Given the description of an element on the screen output the (x, y) to click on. 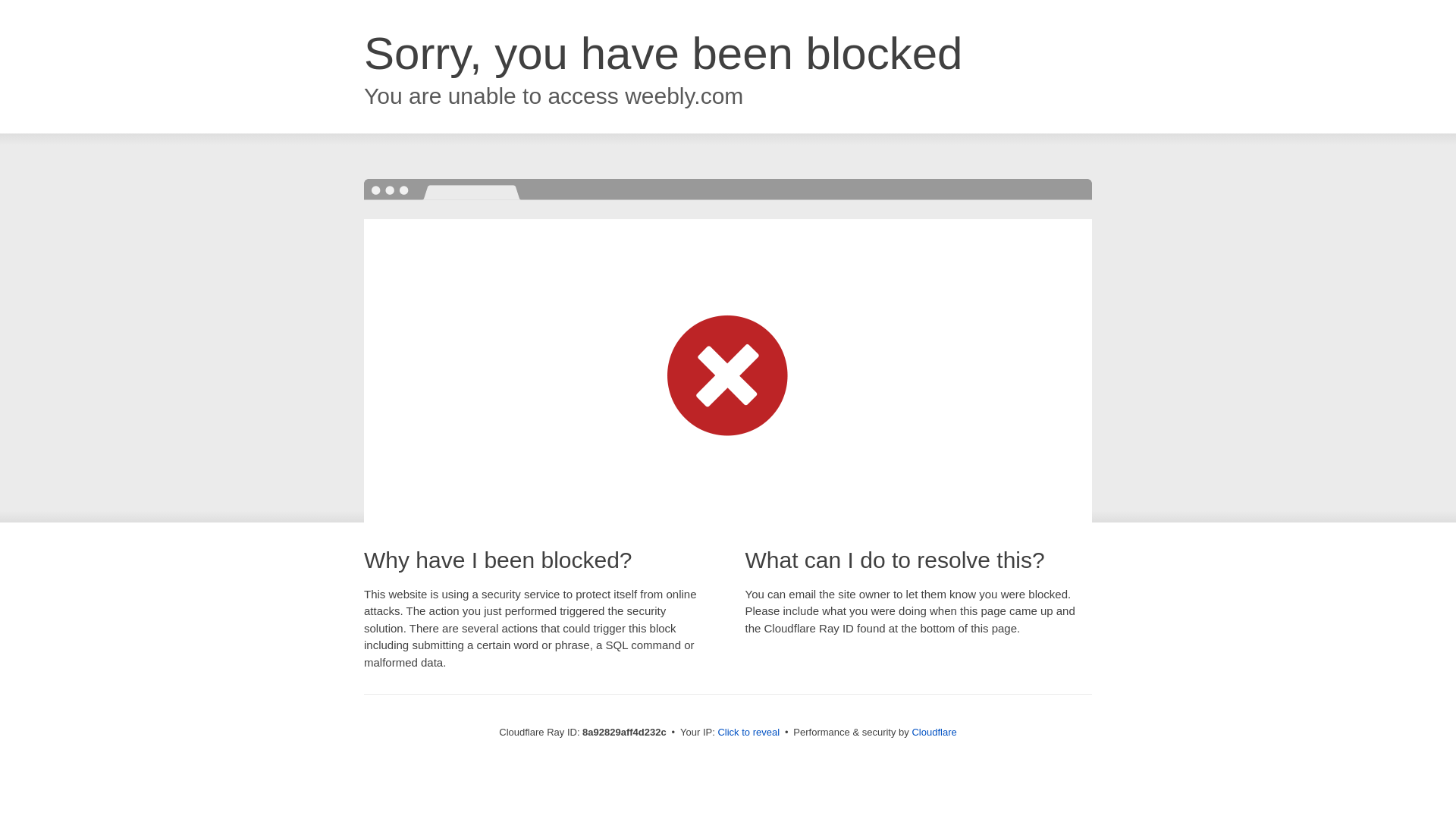
Cloudflare (933, 731)
Click to reveal (747, 732)
